Given the description of an element on the screen output the (x, y) to click on. 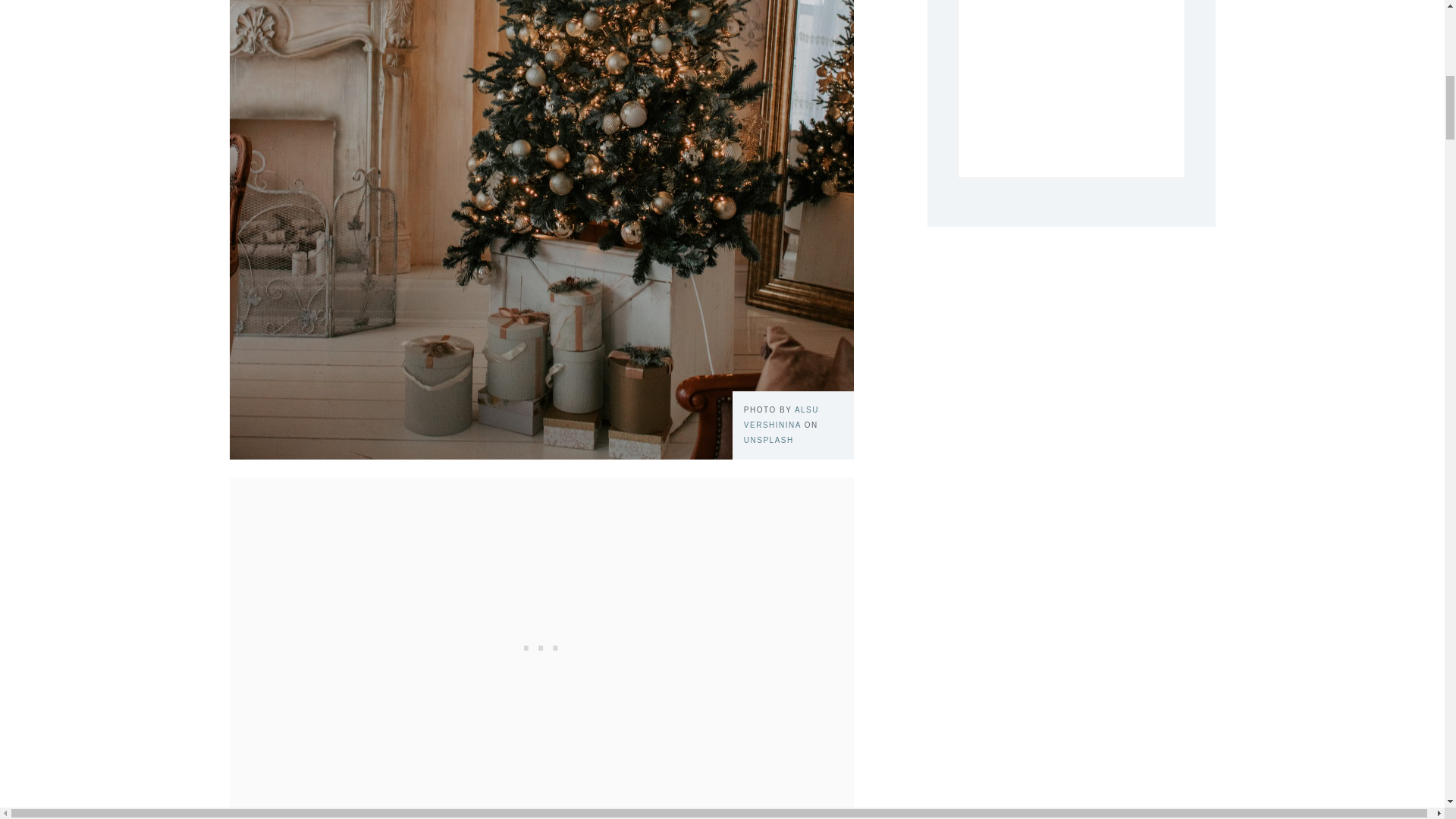
UNSPLASH (768, 439)
ALSU VERSHININA (781, 417)
